Given the description of an element on the screen output the (x, y) to click on. 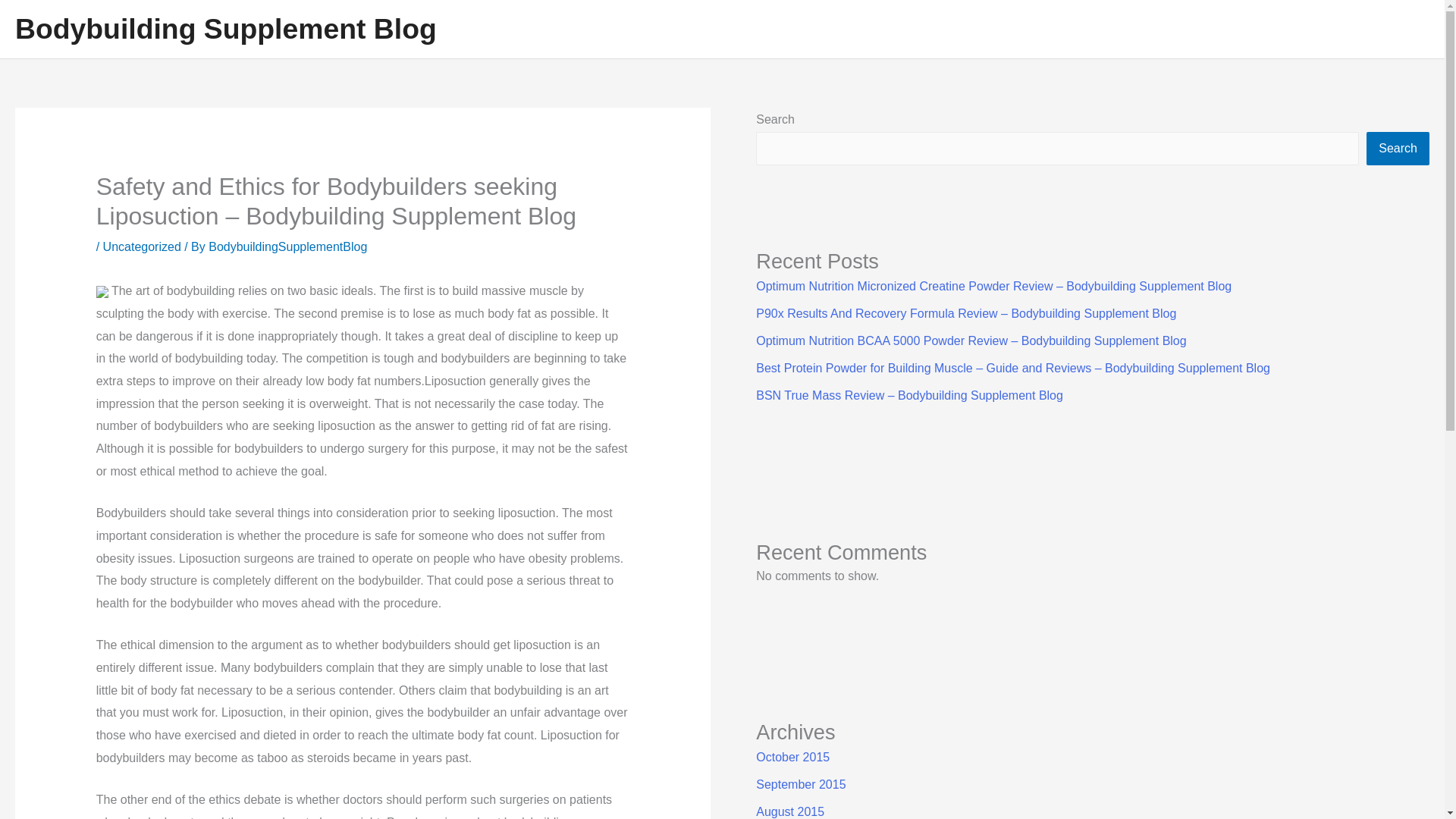
Uncategorized (141, 246)
Bodybuilding Supplement Blog (225, 29)
Search (1398, 148)
BodybuildingSupplementBlog (287, 246)
August 2015 (789, 811)
October 2015 (792, 757)
September 2015 (800, 784)
View all posts by BodybuildingSupplementBlog (287, 246)
